Given the description of an element on the screen output the (x, y) to click on. 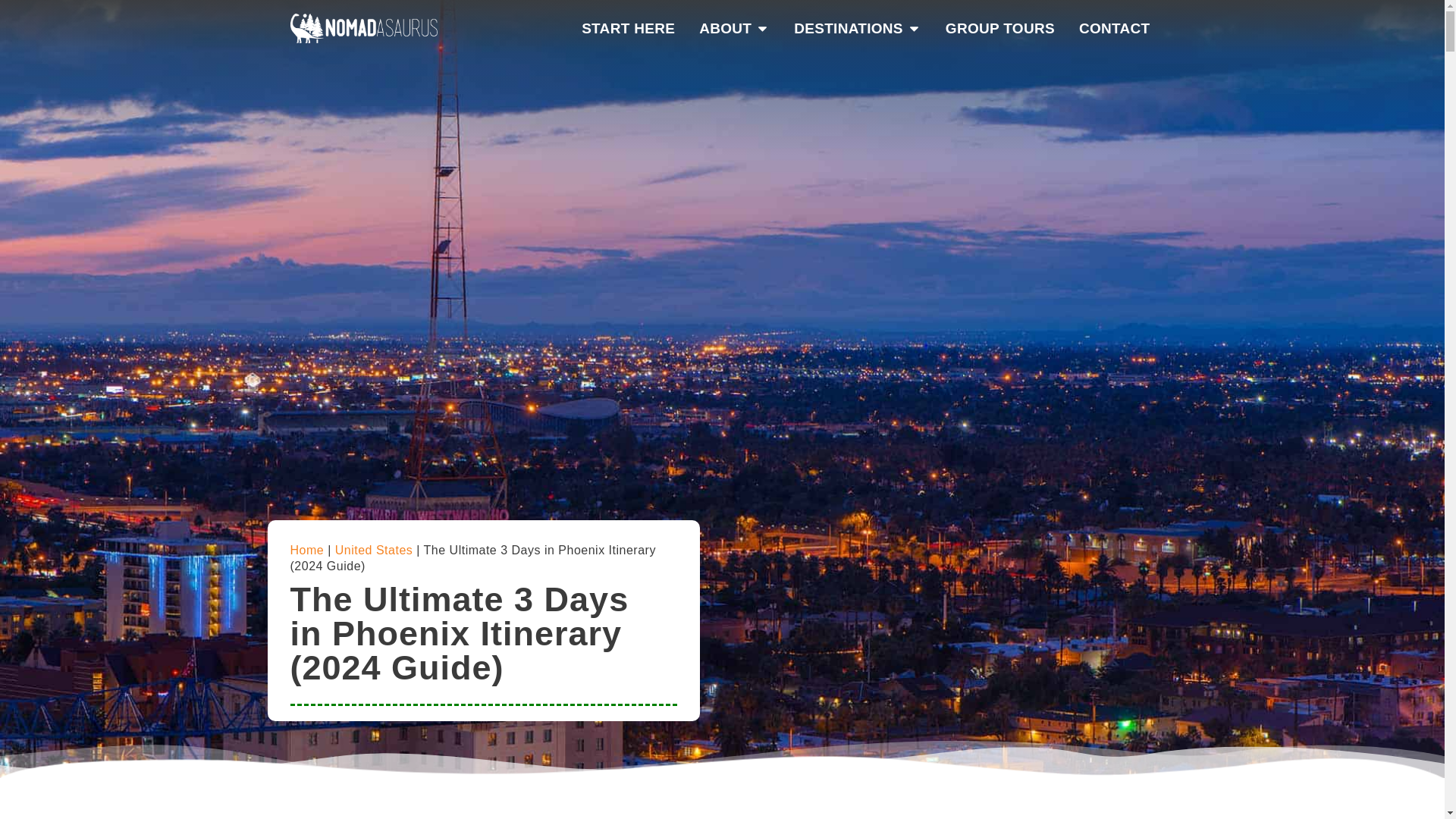
START HERE (627, 29)
DESTINATIONS (847, 29)
ABOUT (724, 29)
